Given the description of an element on the screen output the (x, y) to click on. 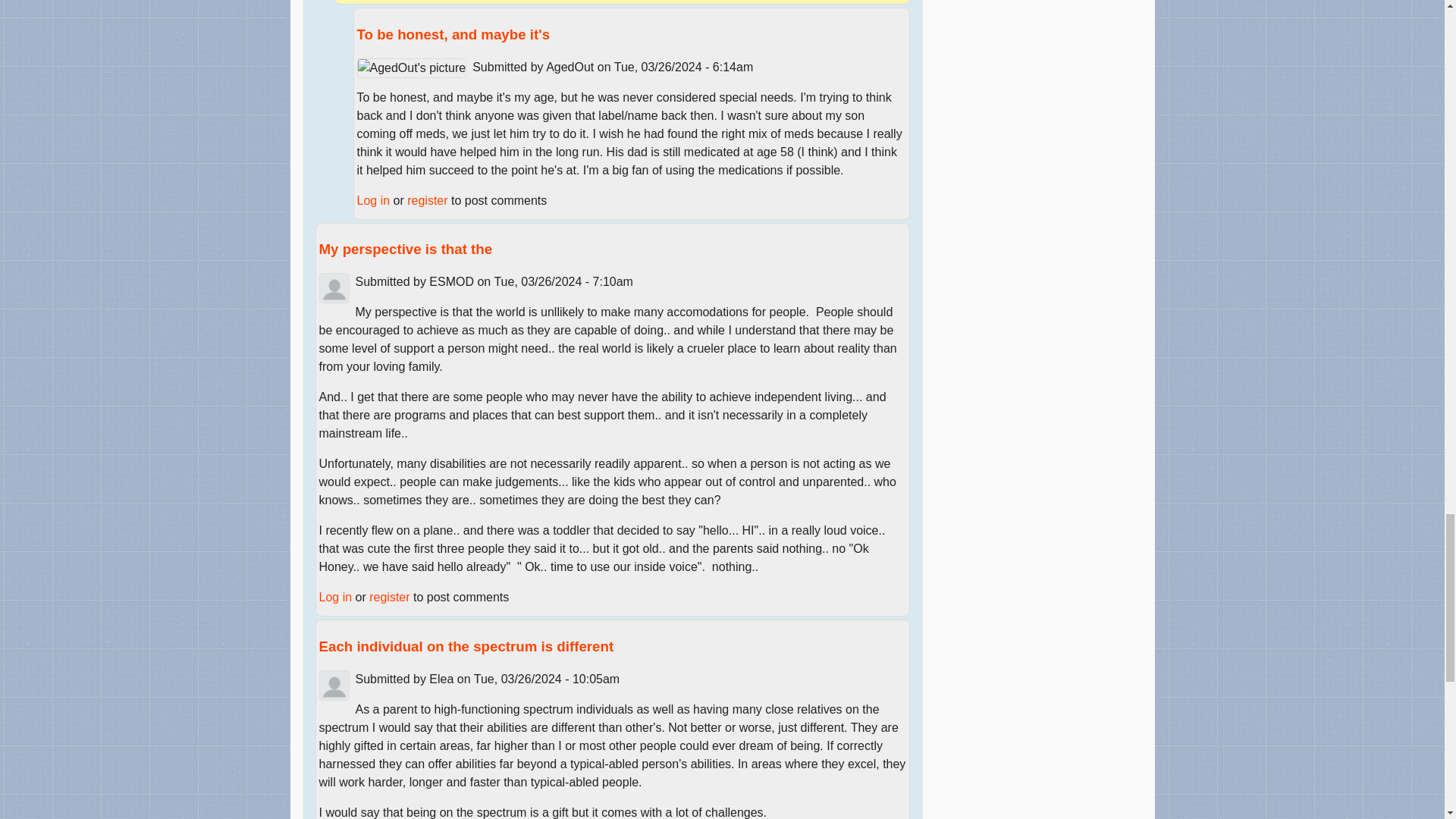
To be honest, and maybe it's (453, 34)
register (426, 200)
Log in (373, 200)
ESMOD's picture (333, 287)
AgedOut's picture (410, 67)
Elea's picture (333, 685)
